Given the description of an element on the screen output the (x, y) to click on. 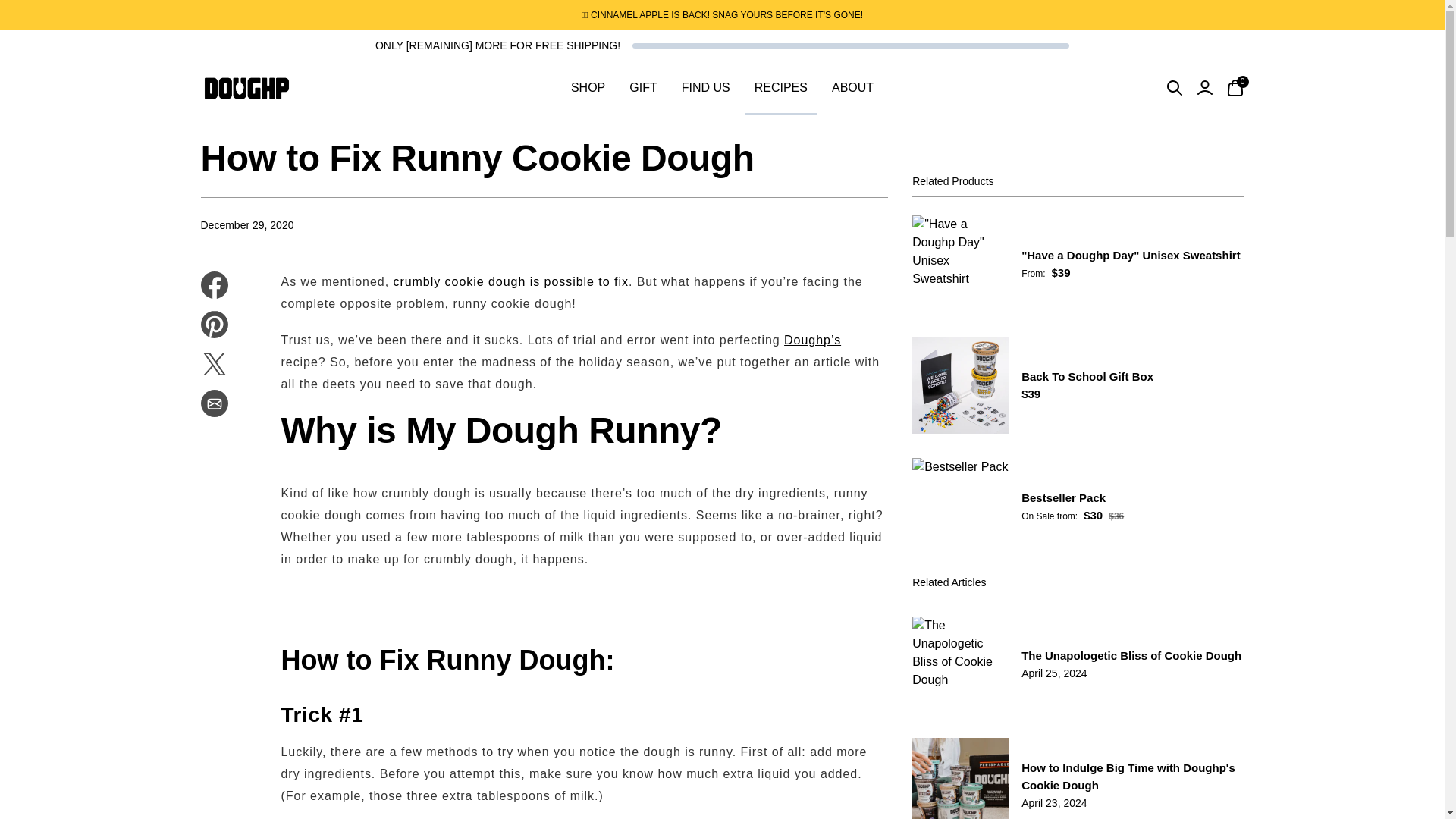
Share via Email (213, 402)
RECIPES (780, 87)
FIND US (705, 87)
Share on Facebook (213, 284)
Share on Pinterest (213, 324)
Build Your Own Pack (812, 339)
Share on Twitter (213, 363)
Search (1173, 87)
Login (1203, 87)
SHOP (587, 87)
ABOUT (722, 87)
GIFT (852, 87)
